Given the description of an element on the screen output the (x, y) to click on. 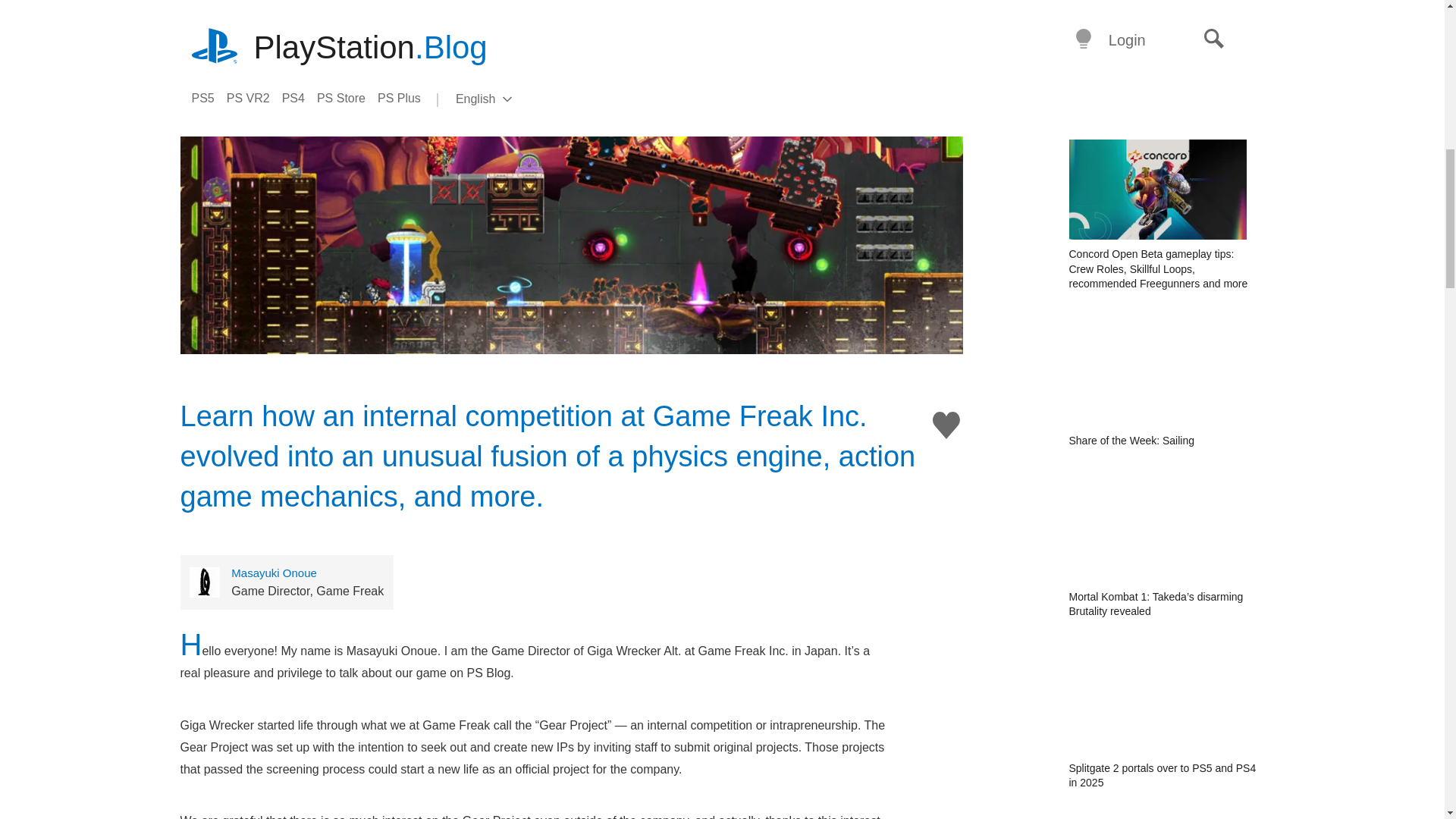
Like this (946, 424)
